Given the description of an element on the screen output the (x, y) to click on. 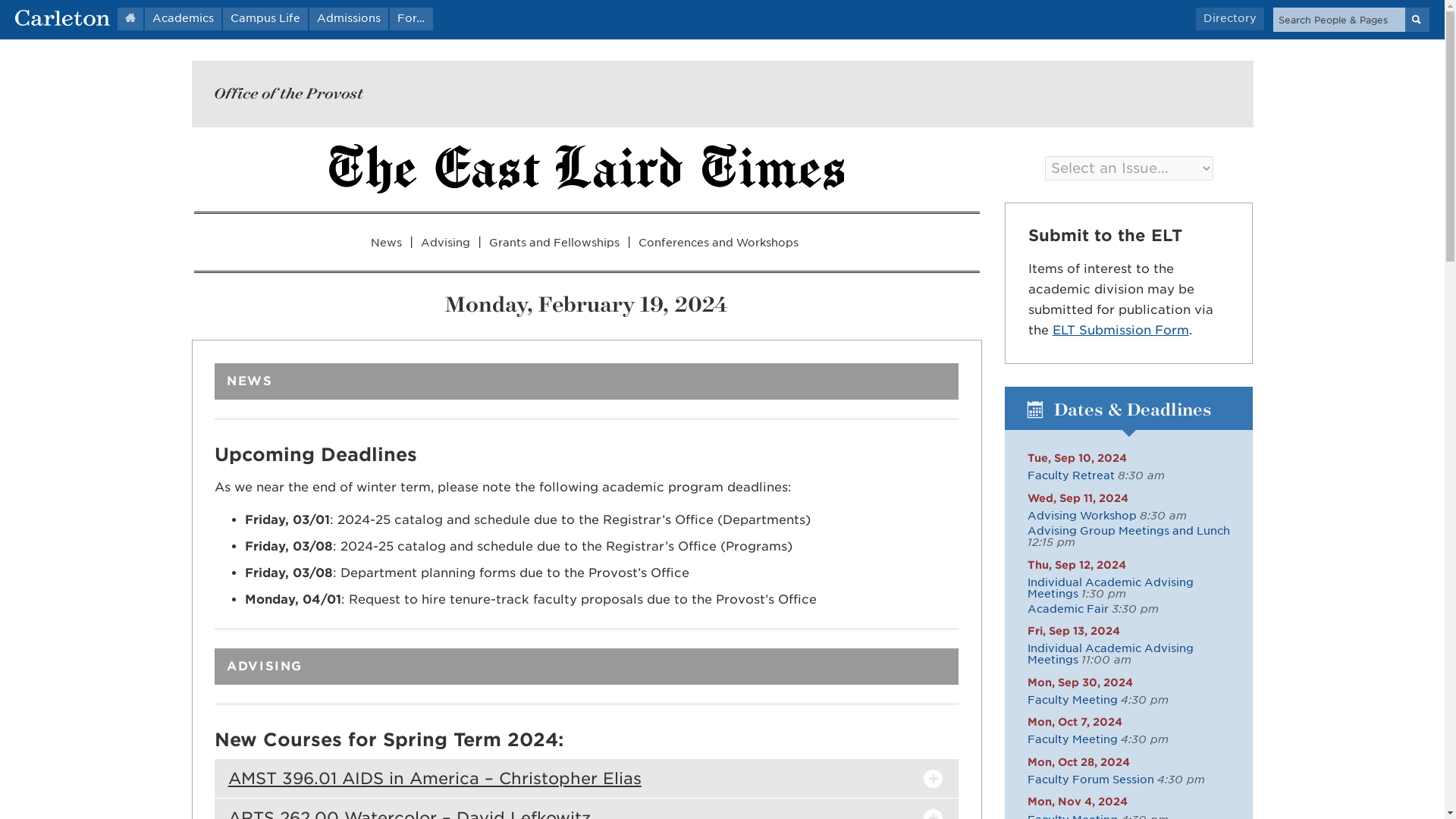
Directory (1229, 18)
Advising (445, 242)
Campus Directory (1229, 18)
Admissions (348, 18)
Grants and Fellowships (554, 242)
Office of the Provost (288, 92)
Academics (182, 18)
News (386, 242)
Conferences and Workshops (718, 242)
Campus Life (264, 18)
